Given the description of an element on the screen output the (x, y) to click on. 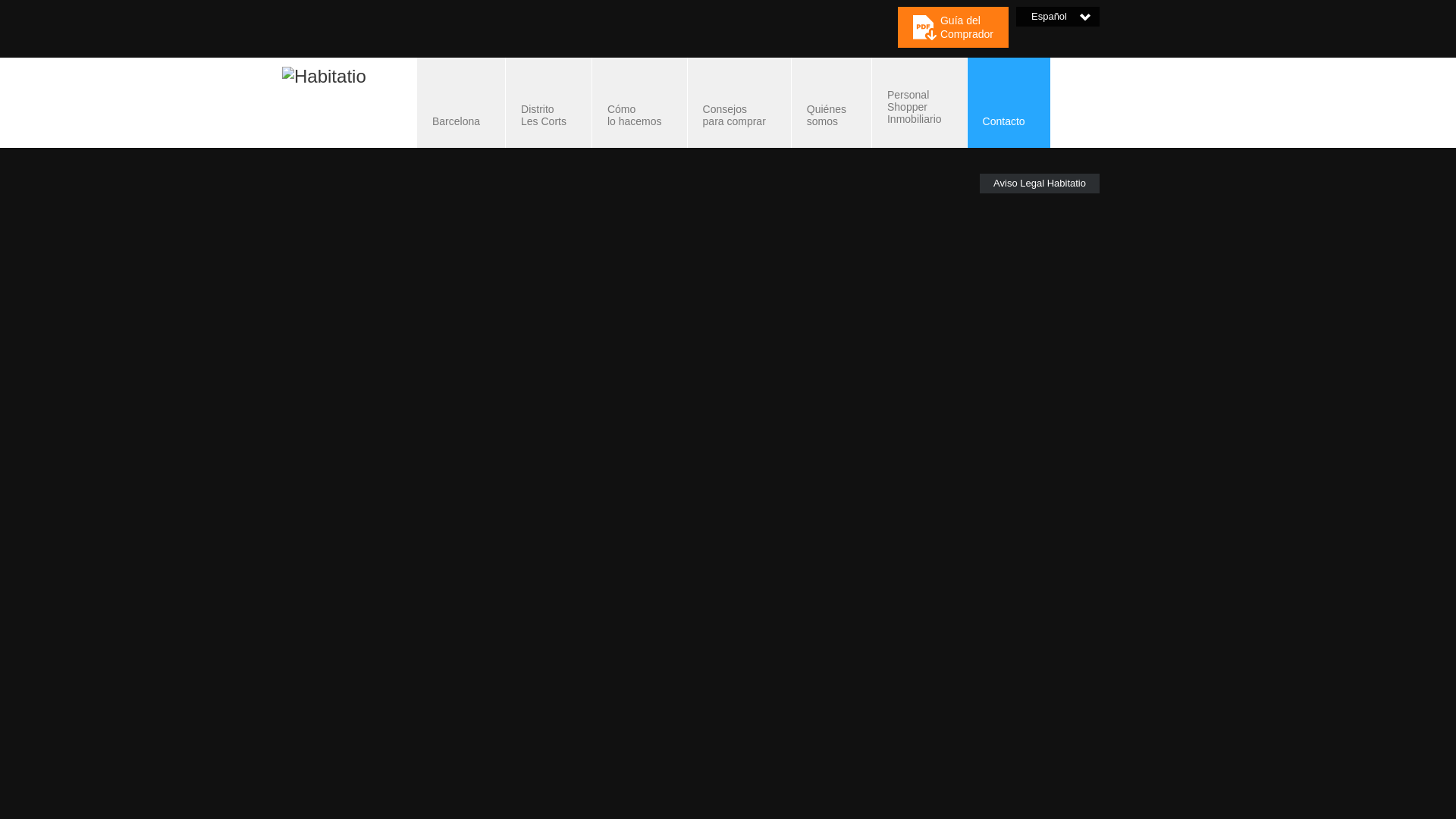
Personal Shopper Inmobiliario Les Corts (548, 102)
Contacto (738, 102)
Aviso Legal Habitatio (1008, 102)
Inmobiliaria en Barcelona (1039, 183)
Barcelona (460, 102)
Habitatio (460, 102)
